Given the description of an element on the screen output the (x, y) to click on. 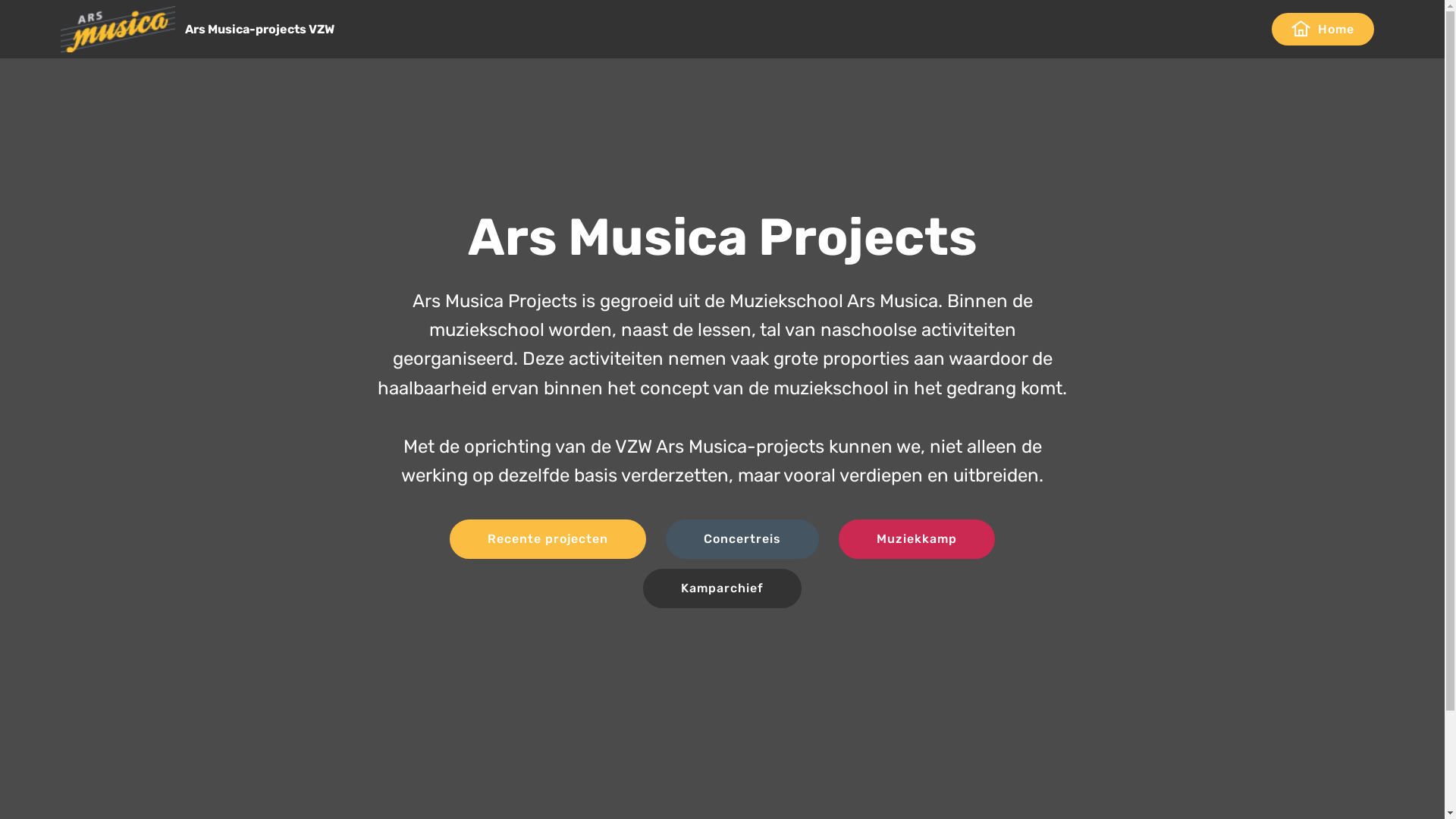
Home Element type: text (1322, 28)
  Element type: text (1252, 28)
Kamparchief Element type: text (722, 588)
Muziekkamp Element type: text (916, 538)
Recente projecten Element type: text (547, 538)
Ars Musica-projects VZW Element type: text (271, 28)
Concertreis Element type: text (742, 538)
